Given the description of an element on the screen output the (x, y) to click on. 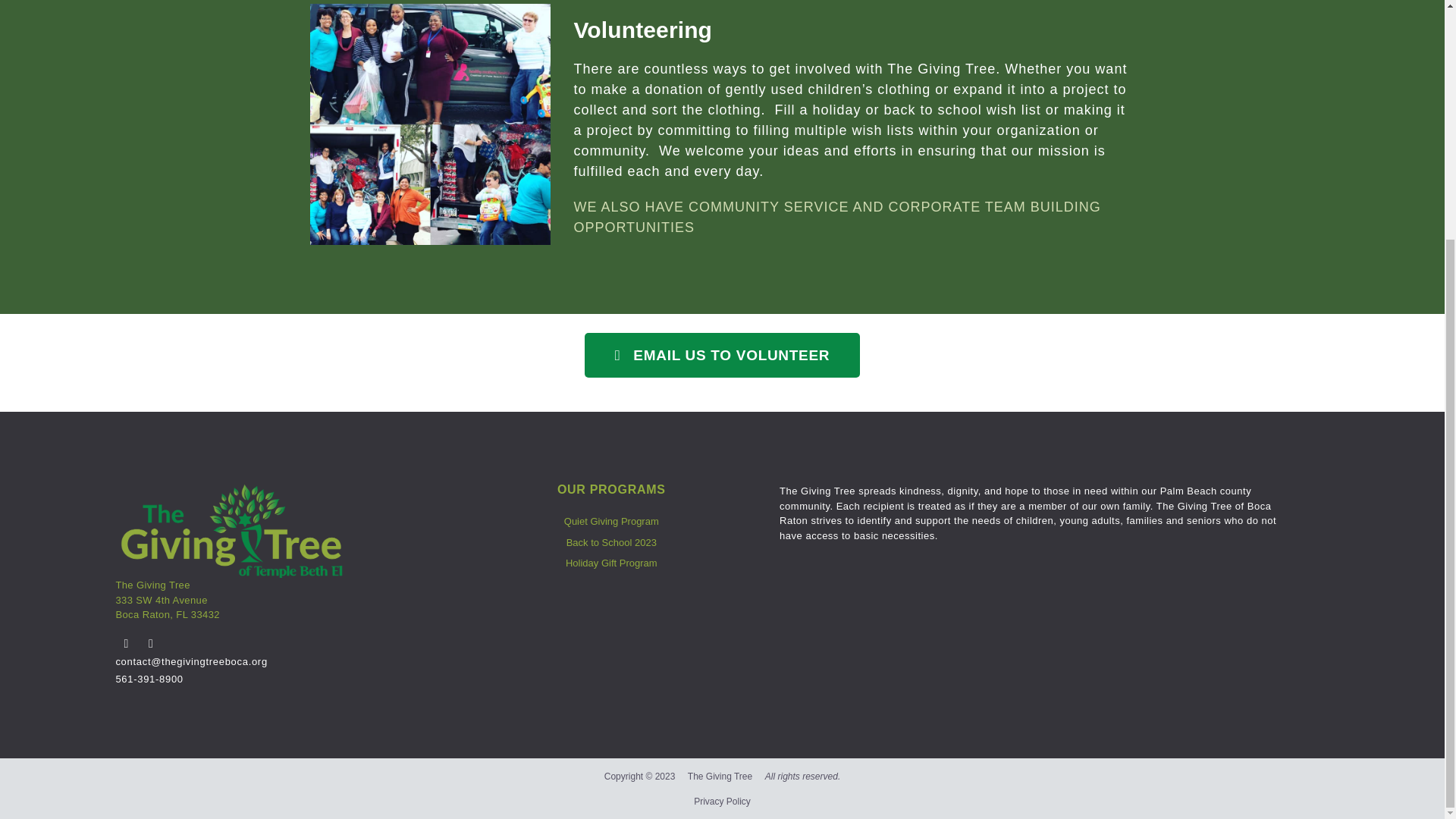
EMAIL US TO VOLUNTEER (722, 354)
Quiet Giving Program (611, 521)
Holiday Gift Program (611, 563)
Back to School 2023 (611, 542)
